Given the description of an element on the screen output the (x, y) to click on. 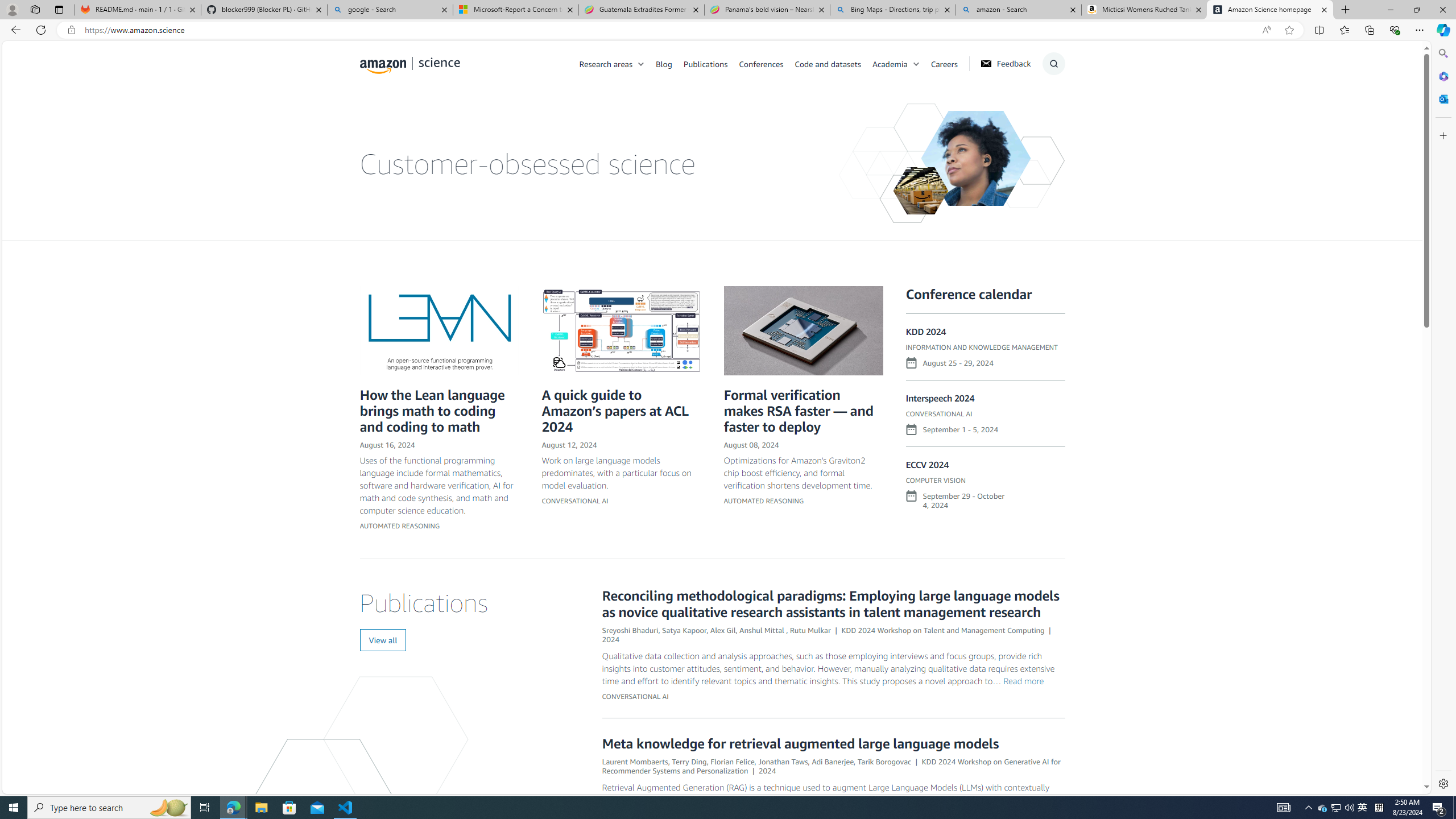
Adi Banerjee (832, 760)
Conferences (766, 63)
Publications (705, 63)
KDD 2024 Workshop on Talent and Management Computing (943, 629)
Class: chevron (916, 66)
LEAN logo.png (439, 330)
